Given the description of an element on the screen output the (x, y) to click on. 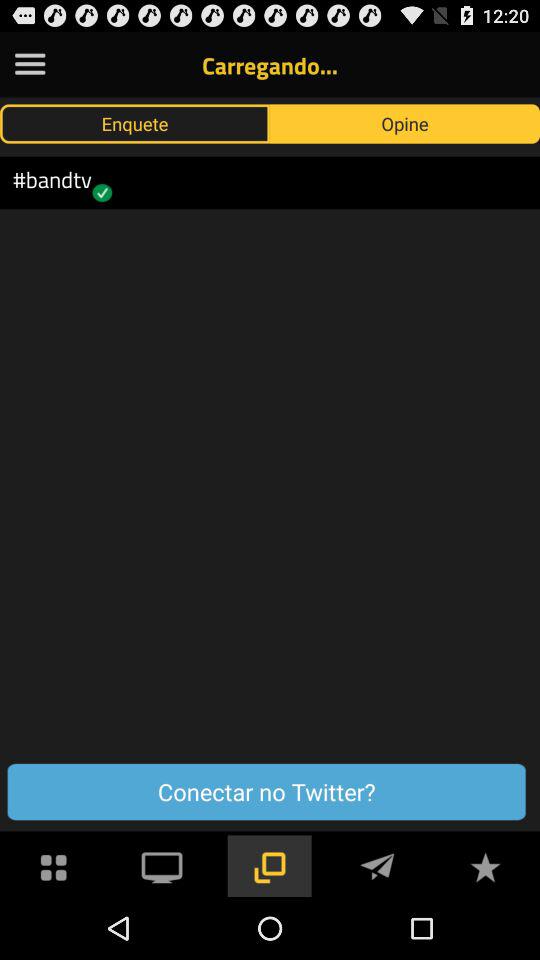
open more settings (29, 64)
